Given the description of an element on the screen output the (x, y) to click on. 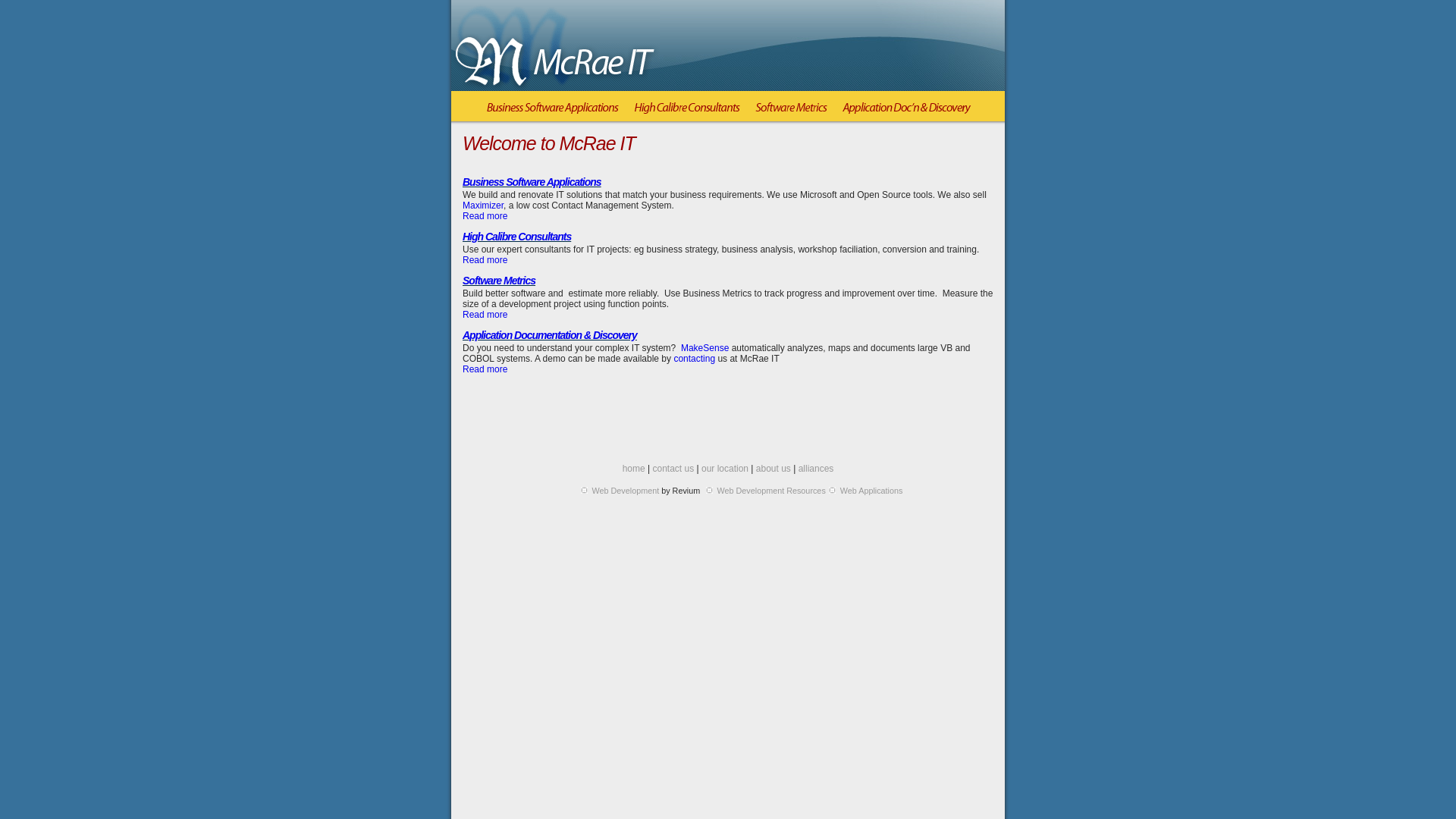
Read more Element type: text (484, 369)
Read more Element type: text (484, 259)
High Calibre Consultants Element type: text (687, 111)
Software Metrics Element type: text (498, 280)
alliances Element type: text (816, 468)
Web Applications Element type: text (871, 490)
about us Element type: text (773, 468)
Application Doc'n & Discovery Element type: text (905, 111)
contacting Element type: text (694, 358)
Read more Element type: text (484, 215)
McRae IT Element type: text (555, 47)
MakeSense Element type: text (704, 347)
contact us Element type: text (672, 468)
Read more Element type: text (484, 314)
our location Element type: text (724, 468)
Business Software Applications Element type: text (531, 181)
Maximizer Element type: text (482, 205)
Software Metrics Element type: text (791, 111)
High Calibre Consultants Element type: text (516, 236)
Application Documentation & Discovery Element type: text (549, 335)
Web Development Resources Element type: text (771, 490)
Web Development Element type: text (625, 490)
home Element type: text (633, 468)
Business Software Applications Element type: text (552, 111)
